Given the description of an element on the screen output the (x, y) to click on. 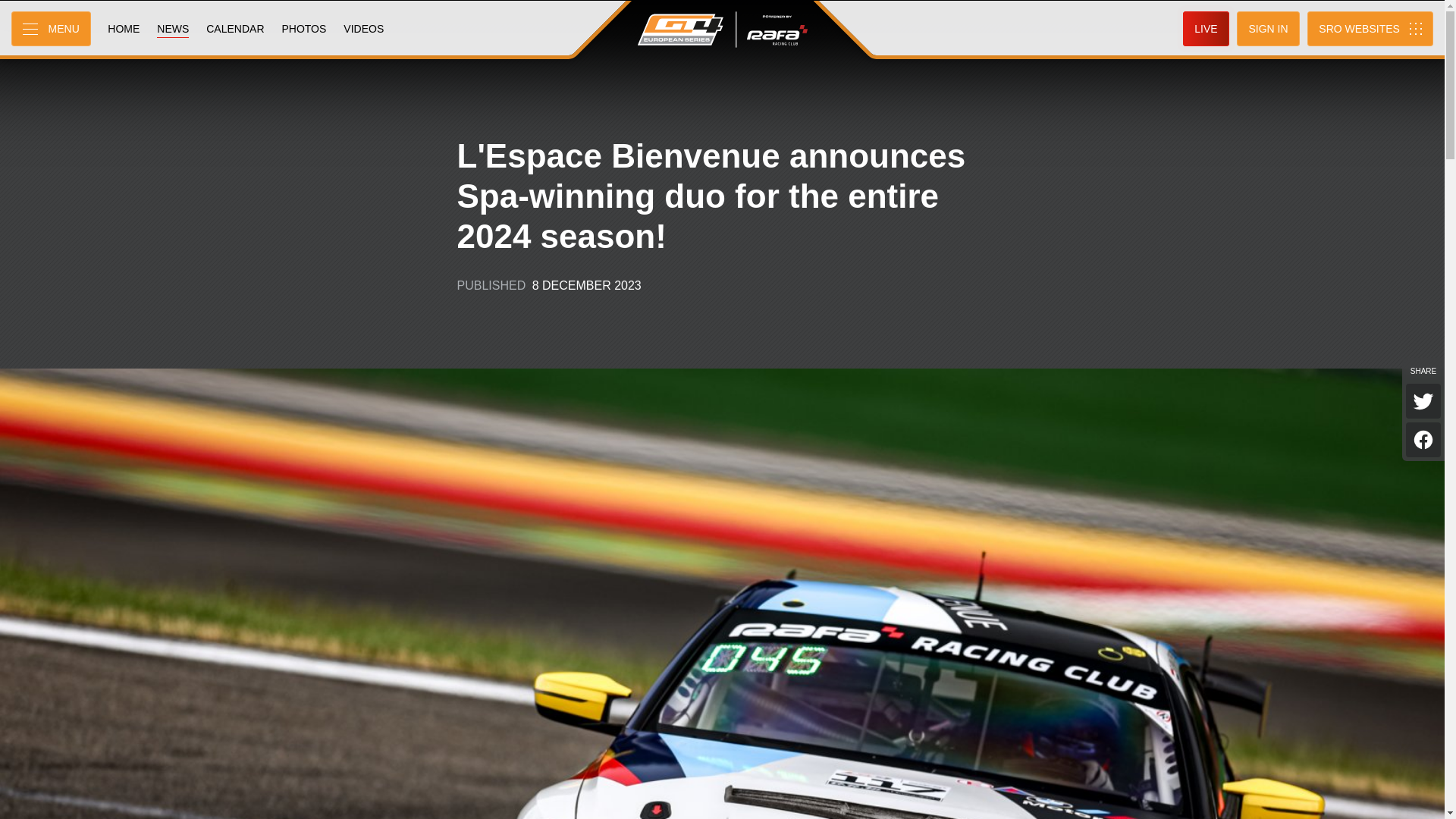
CALENDAR (234, 28)
VIDEOS (363, 28)
PHOTOS (304, 28)
MENU (50, 28)
NEWS (172, 28)
HOME (123, 28)
